Given the description of an element on the screen output the (x, y) to click on. 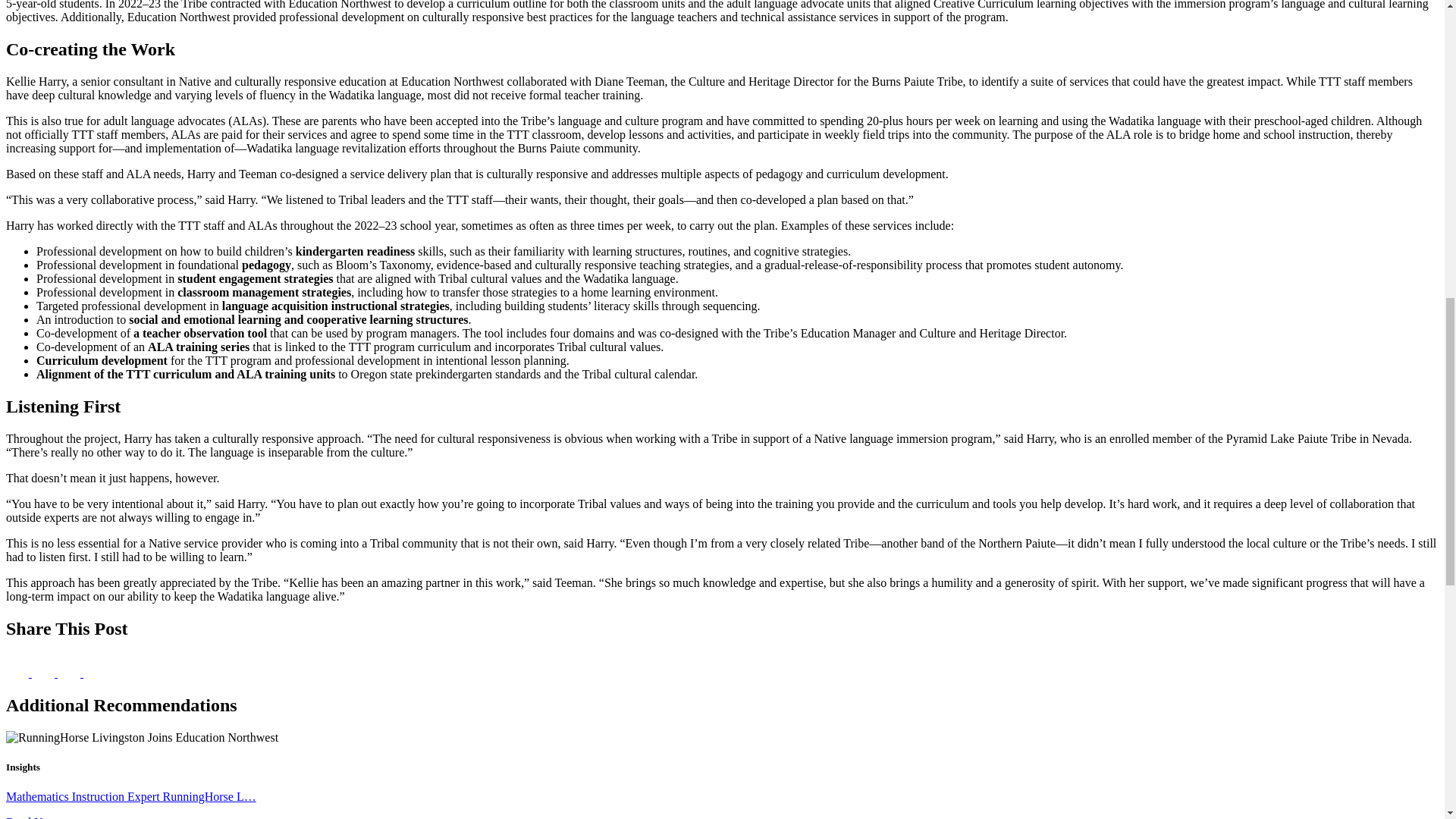
Share to Facebook (18, 672)
Share to E-mail (94, 672)
Share to Linkedin (70, 672)
Share to Twitter (45, 672)
